Given the description of an element on the screen output the (x, y) to click on. 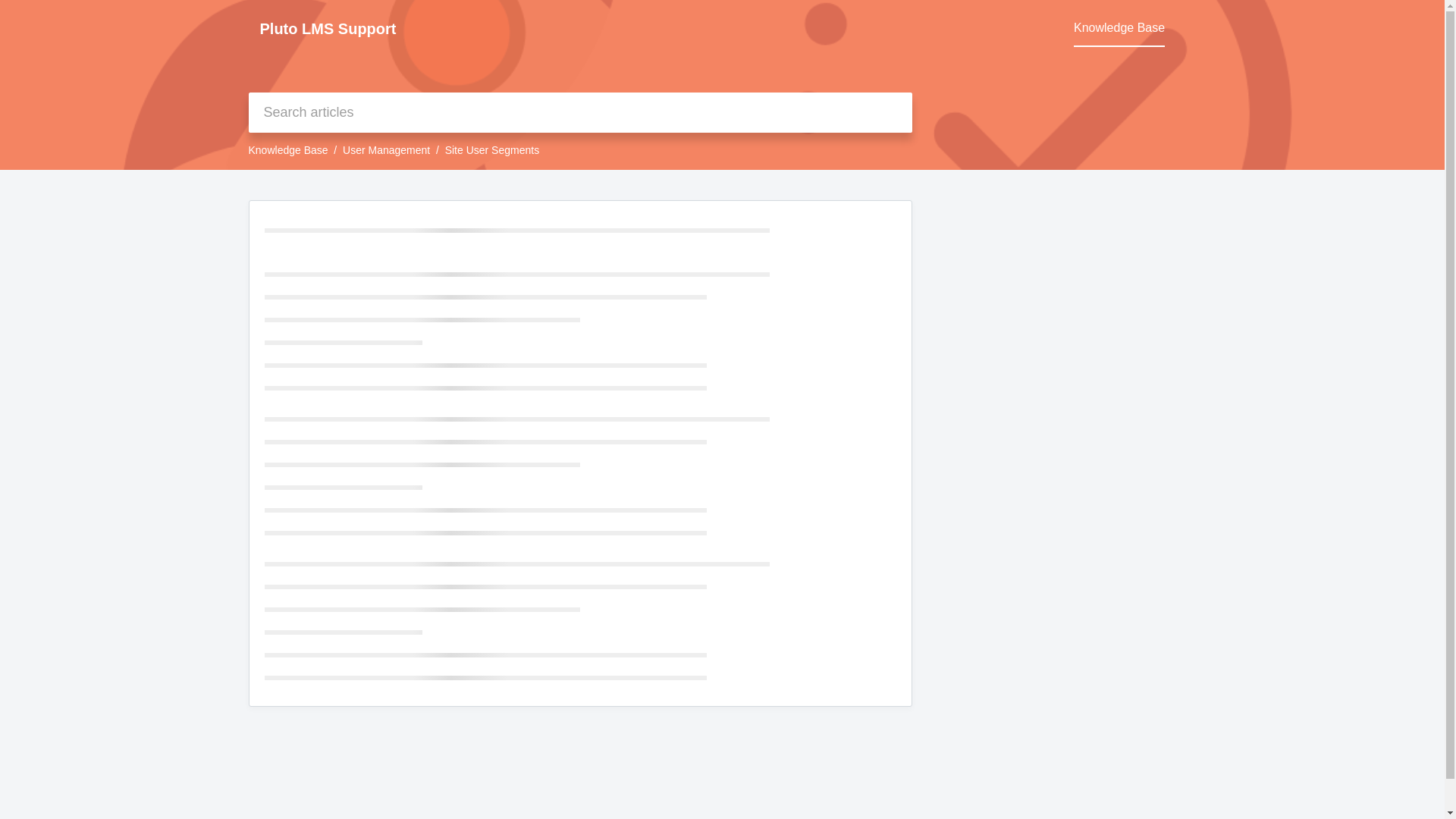
Knowledge Base (1119, 27)
User Management (385, 150)
Site User Segments (492, 150)
Knowledge Base (1119, 27)
Knowledge Base (288, 150)
